Given the description of an element on the screen output the (x, y) to click on. 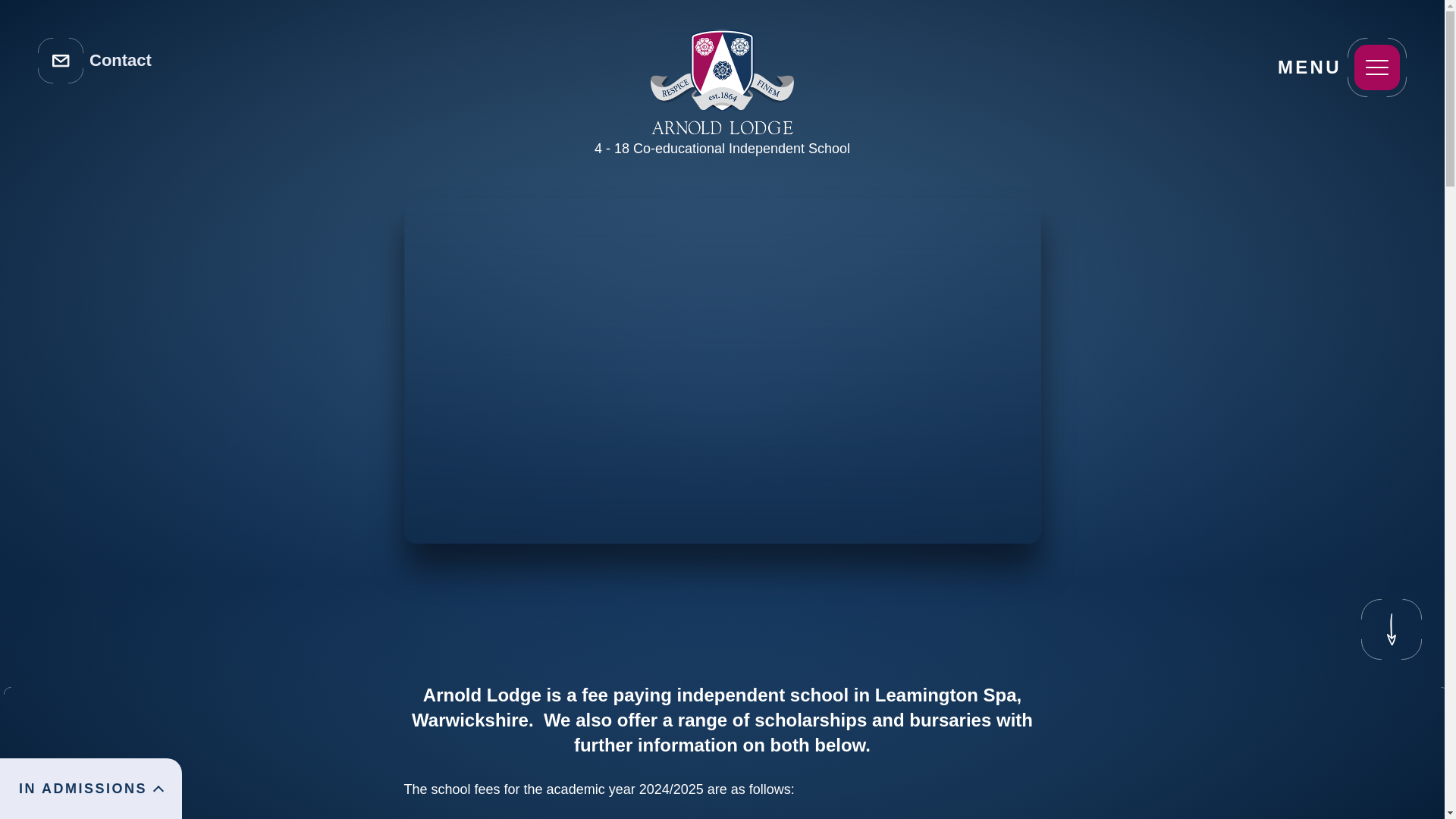
Open Menu (1377, 67)
Contact (94, 60)
Arnold Lodge (722, 72)
Contact (94, 60)
MENU (1377, 67)
